Given the description of an element on the screen output the (x, y) to click on. 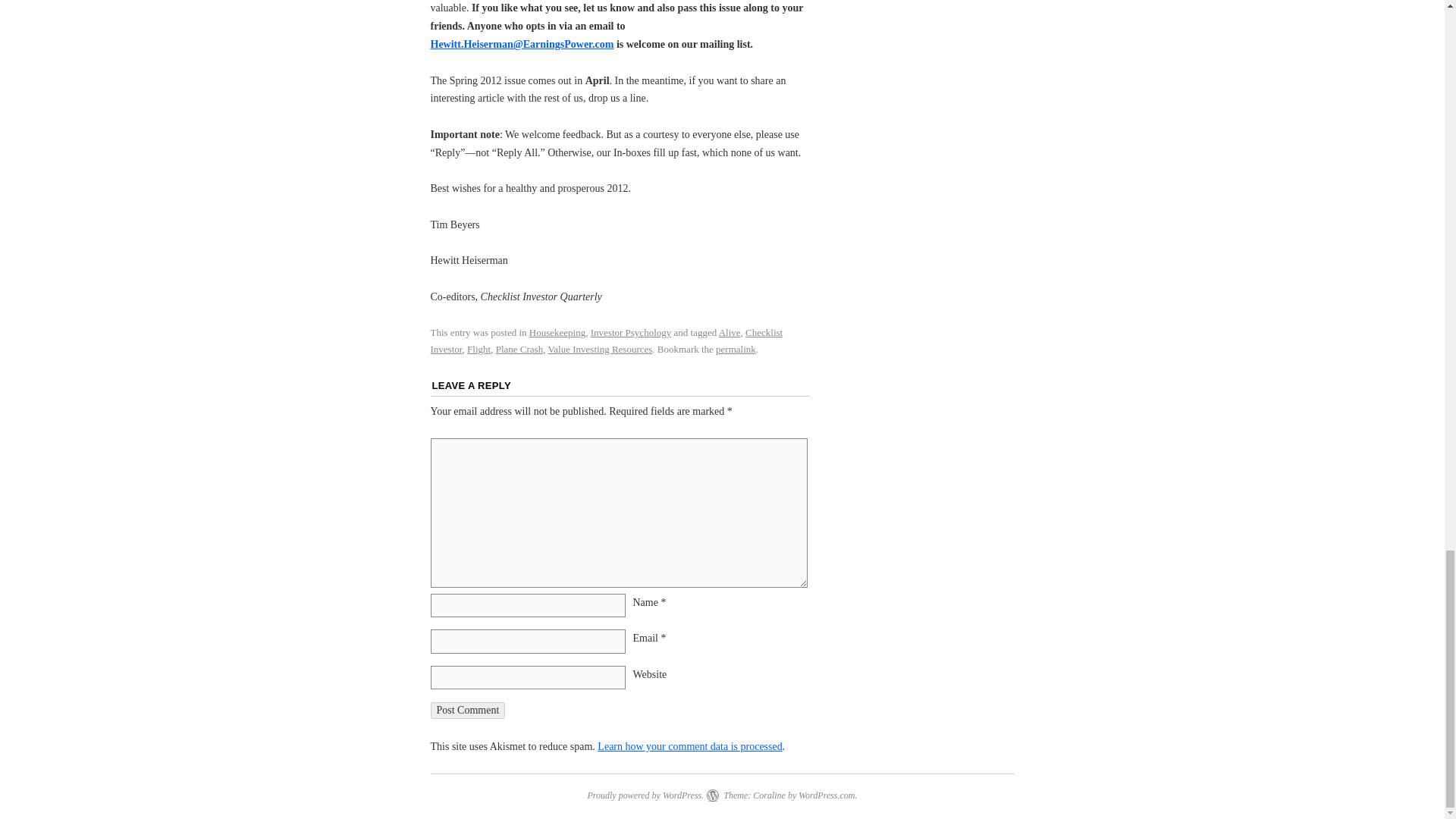
Housekeeping (557, 332)
permalink (735, 348)
Plane Crash (519, 348)
Learn how your comment data is processed (688, 746)
Permalink to Free Newsletter: Checklist Investor Quarterly (735, 348)
Post Comment (467, 710)
Flight (478, 348)
Investor Psychology (631, 332)
Checklist Investor (606, 340)
Post Comment (467, 710)
